Given the description of an element on the screen output the (x, y) to click on. 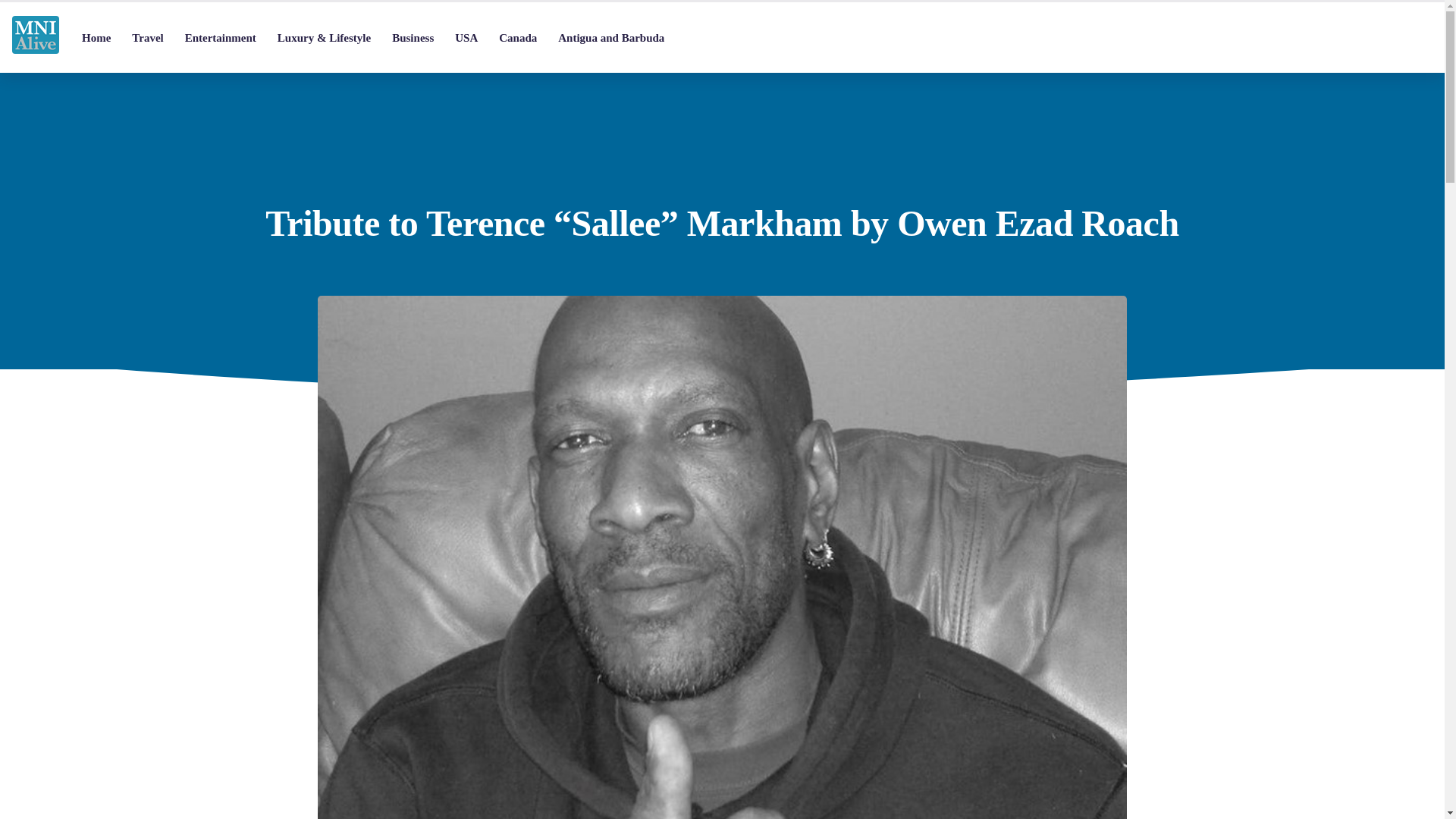
USA (465, 37)
Business (412, 37)
Travel (146, 37)
Home (95, 37)
Canada (517, 37)
Antigua and Barbuda (611, 37)
Entertainment (220, 37)
